Given the description of an element on the screen output the (x, y) to click on. 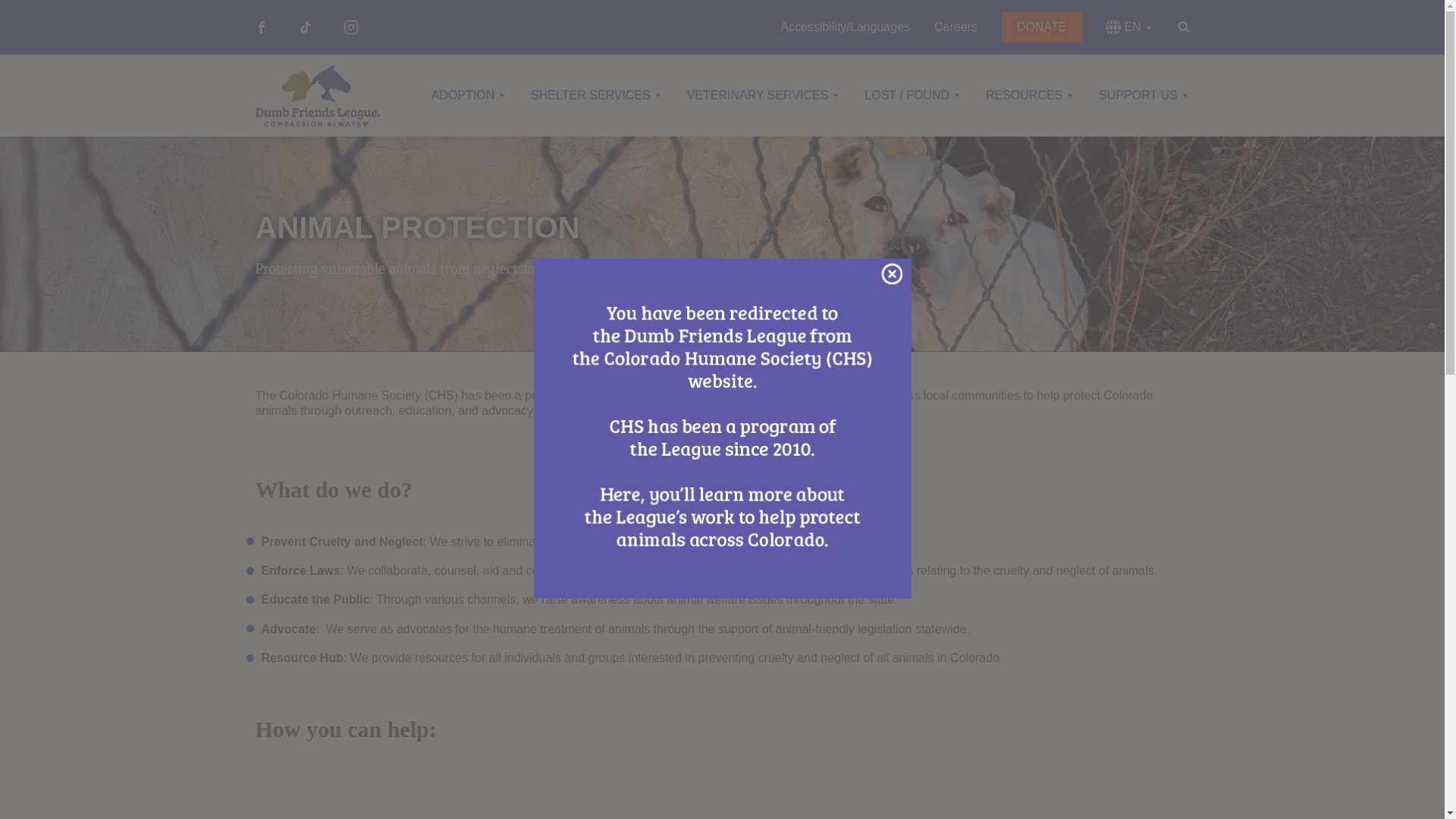
SHELTER SERVICES (596, 95)
VETERINARY SERVICES (764, 95)
ADOPTION (468, 95)
DONATE (1041, 27)
Careers (955, 27)
Facebook (260, 27)
RESOURCES (1029, 95)
TikTok (305, 27)
Instagram (350, 27)
TikTok (305, 27)
Facebook (260, 27)
Toggle search form (1182, 24)
Instagram (350, 27)
EN (1129, 27)
